Given the description of an element on the screen output the (x, y) to click on. 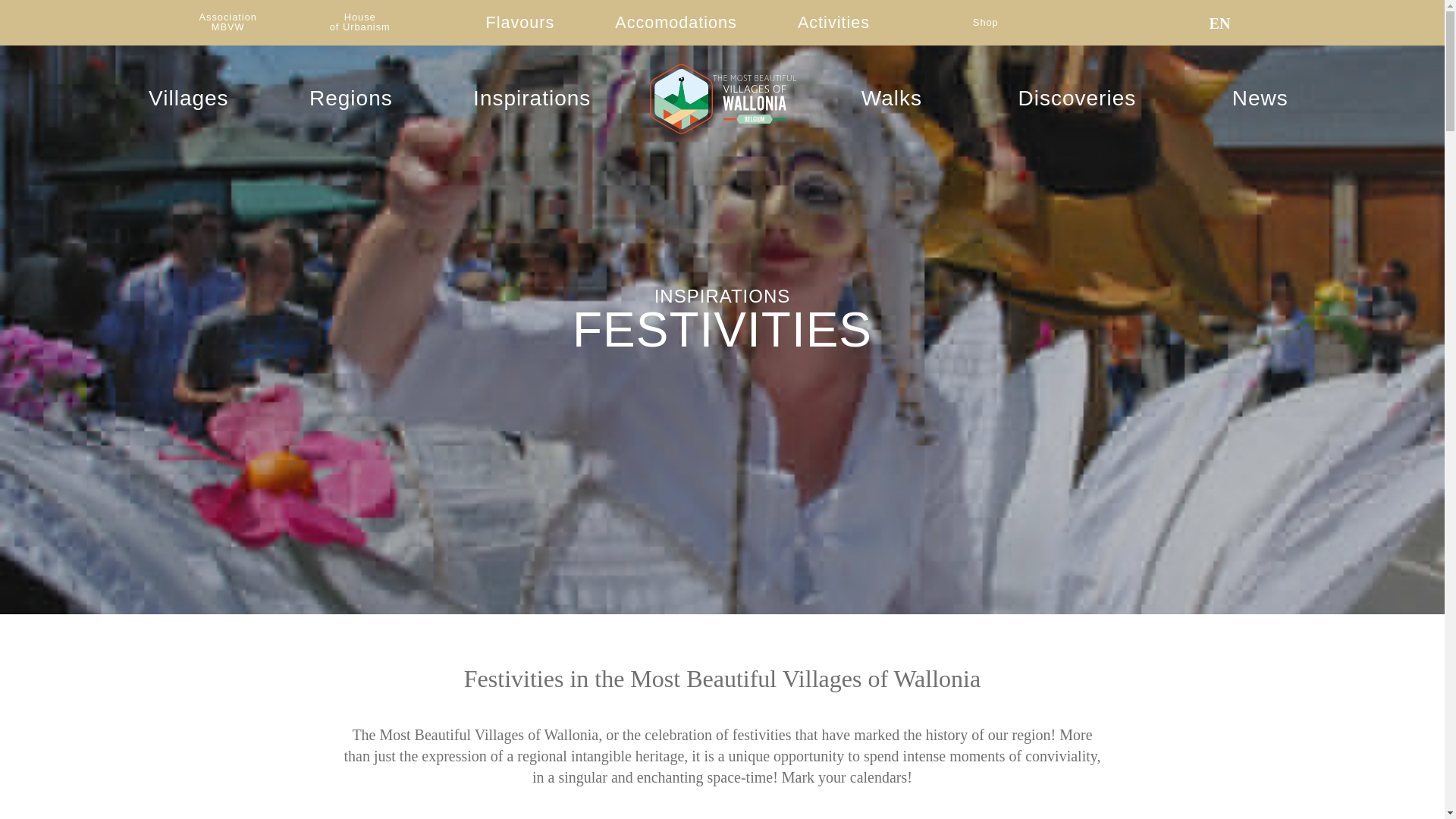
Walks (891, 97)
EN (1230, 22)
Shop (985, 22)
Flavours (359, 22)
Accomodations (226, 22)
Inspirations (519, 22)
Villages (676, 22)
Regions (532, 97)
